Given the description of an element on the screen output the (x, y) to click on. 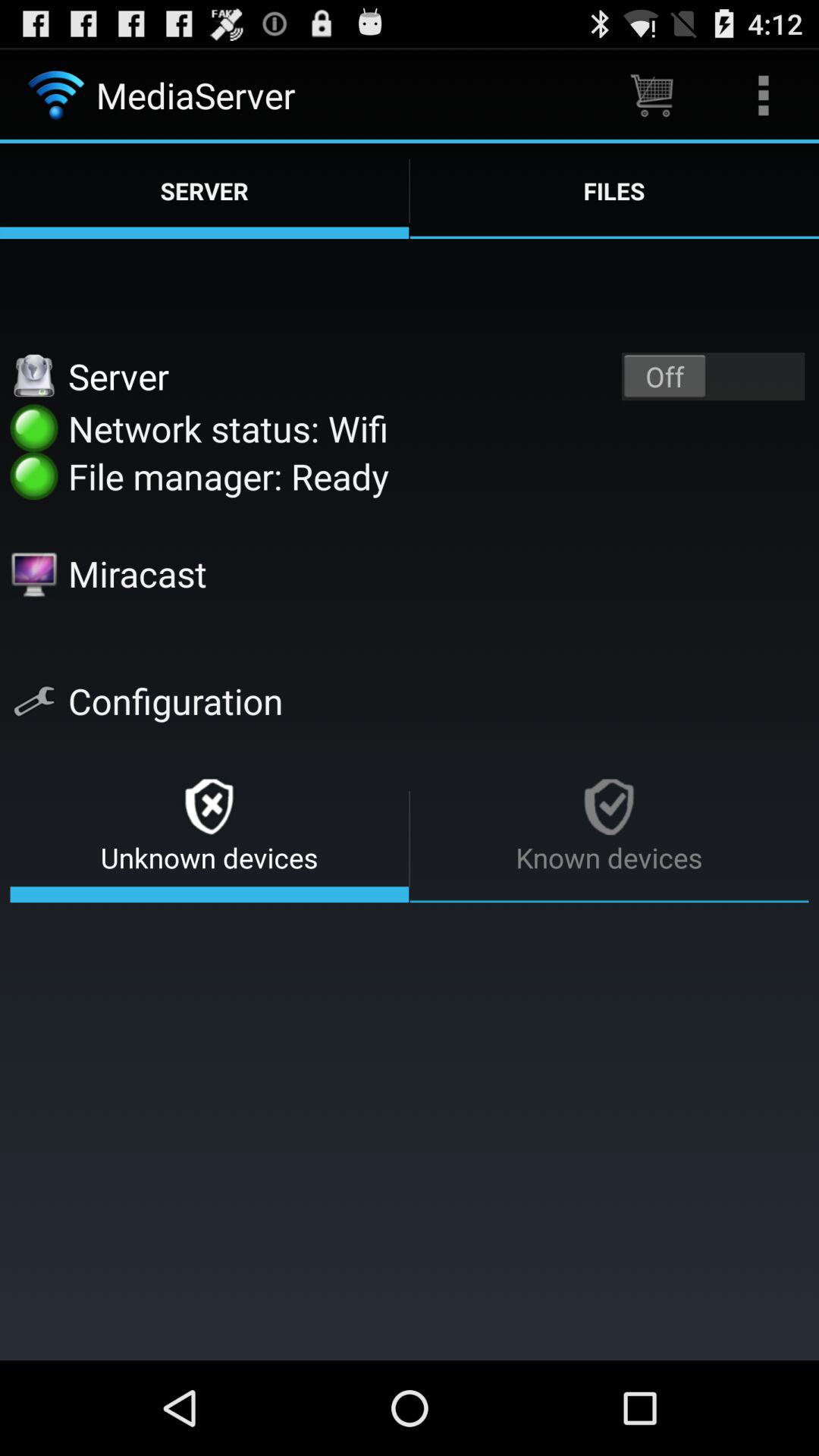
launch item above files item (651, 95)
